Given the description of an element on the screen output the (x, y) to click on. 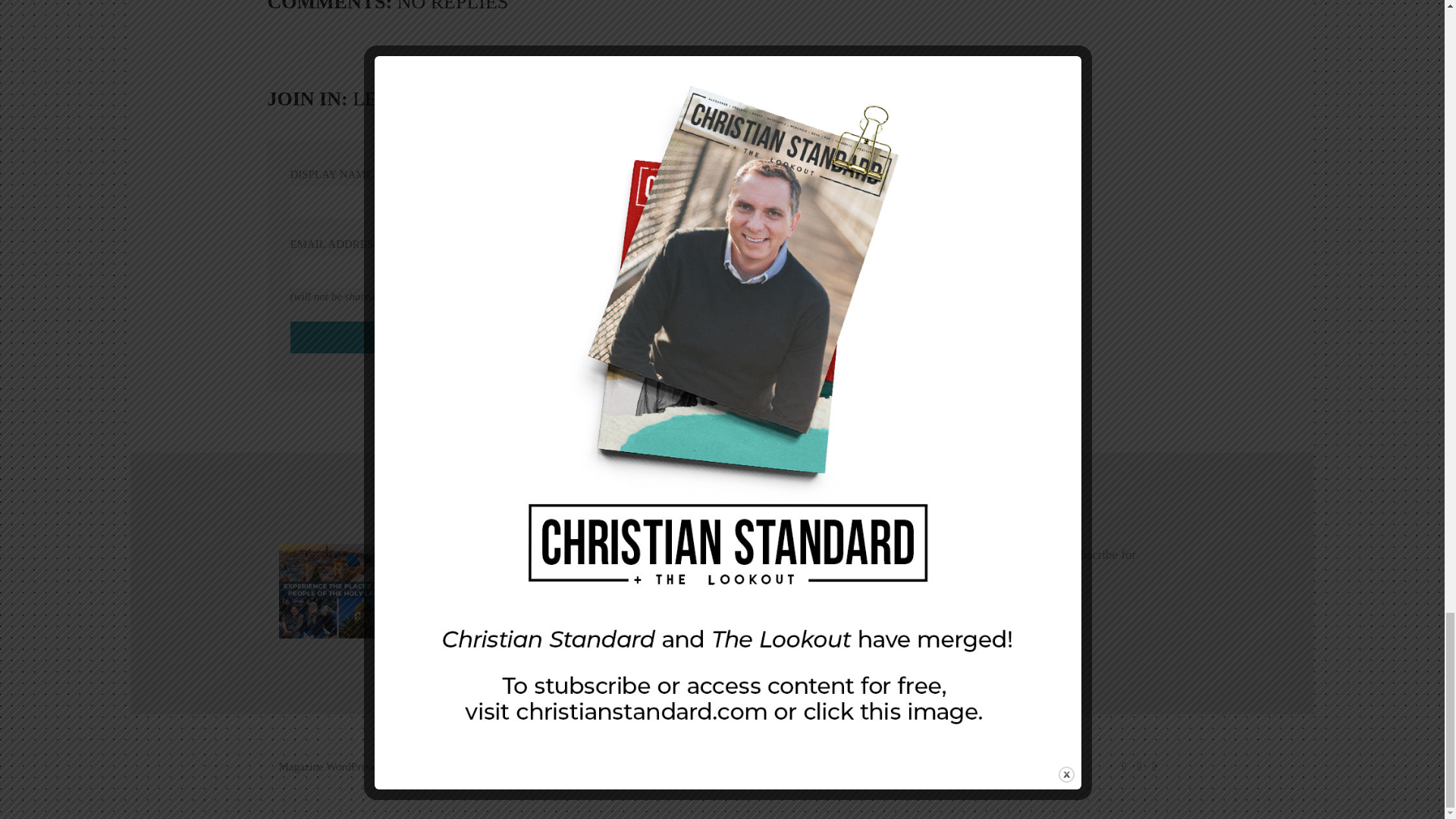
Submit Comment (422, 336)
